Given the description of an element on the screen output the (x, y) to click on. 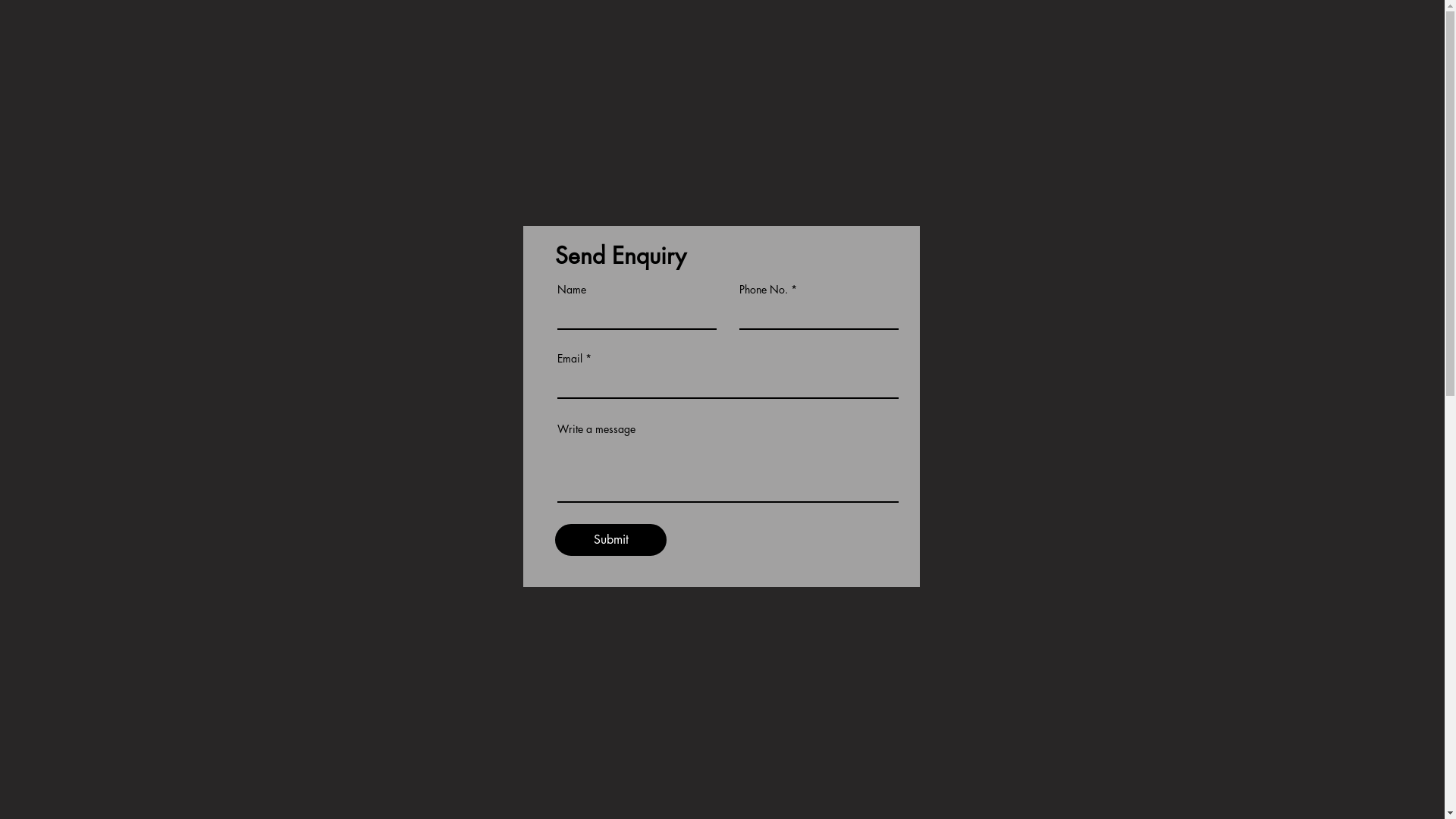
About Us Element type: text (961, 37)
Call Now Element type: text (1362, 37)
Contact Us Element type: text (1223, 37)
R Element type: text (98, 37)
Media Element type: text (1094, 37)
Gallery Element type: text (1152, 37)
Submit Element type: text (610, 539)
Get a Quote Element type: text (552, 793)
Services Element type: text (1031, 37)
